Given the description of an element on the screen output the (x, y) to click on. 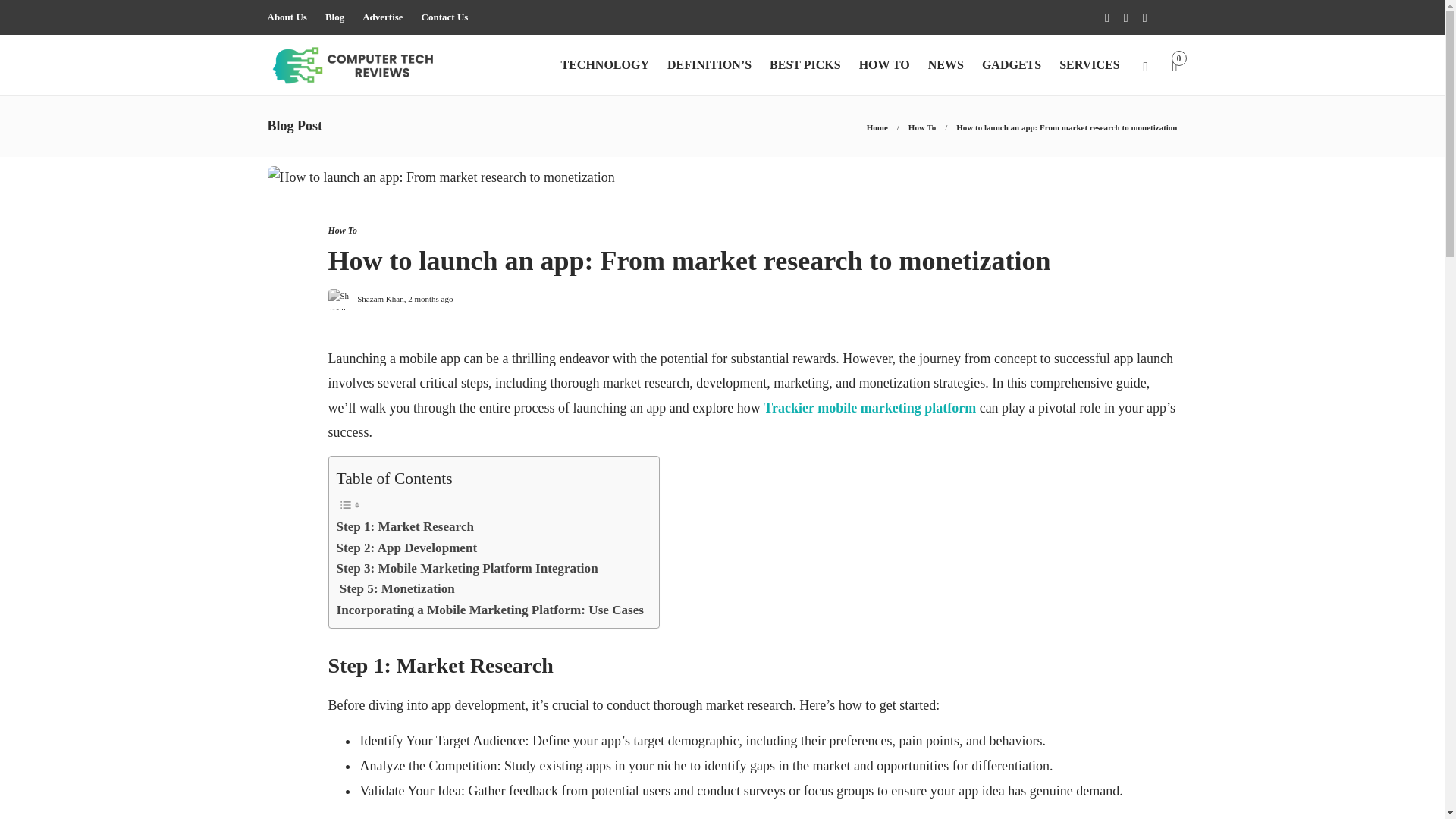
How to launch an app: From market research to monetization (1066, 126)
How To (922, 126)
Incorporating a Mobile Marketing Platform: Use Cases (489, 609)
Step 3: Mobile Marketing Platform Integration (467, 567)
Step 2: App Development (406, 547)
Advertise (382, 17)
GADGETS (1011, 65)
SERVICES (1089, 65)
About Us (285, 17)
 Step 5: Monetization (395, 588)
2 months ago (429, 297)
How to launch an app: From market research to monetization (740, 264)
Home (877, 126)
Contact Us (445, 17)
Home (877, 126)
